Given the description of an element on the screen output the (x, y) to click on. 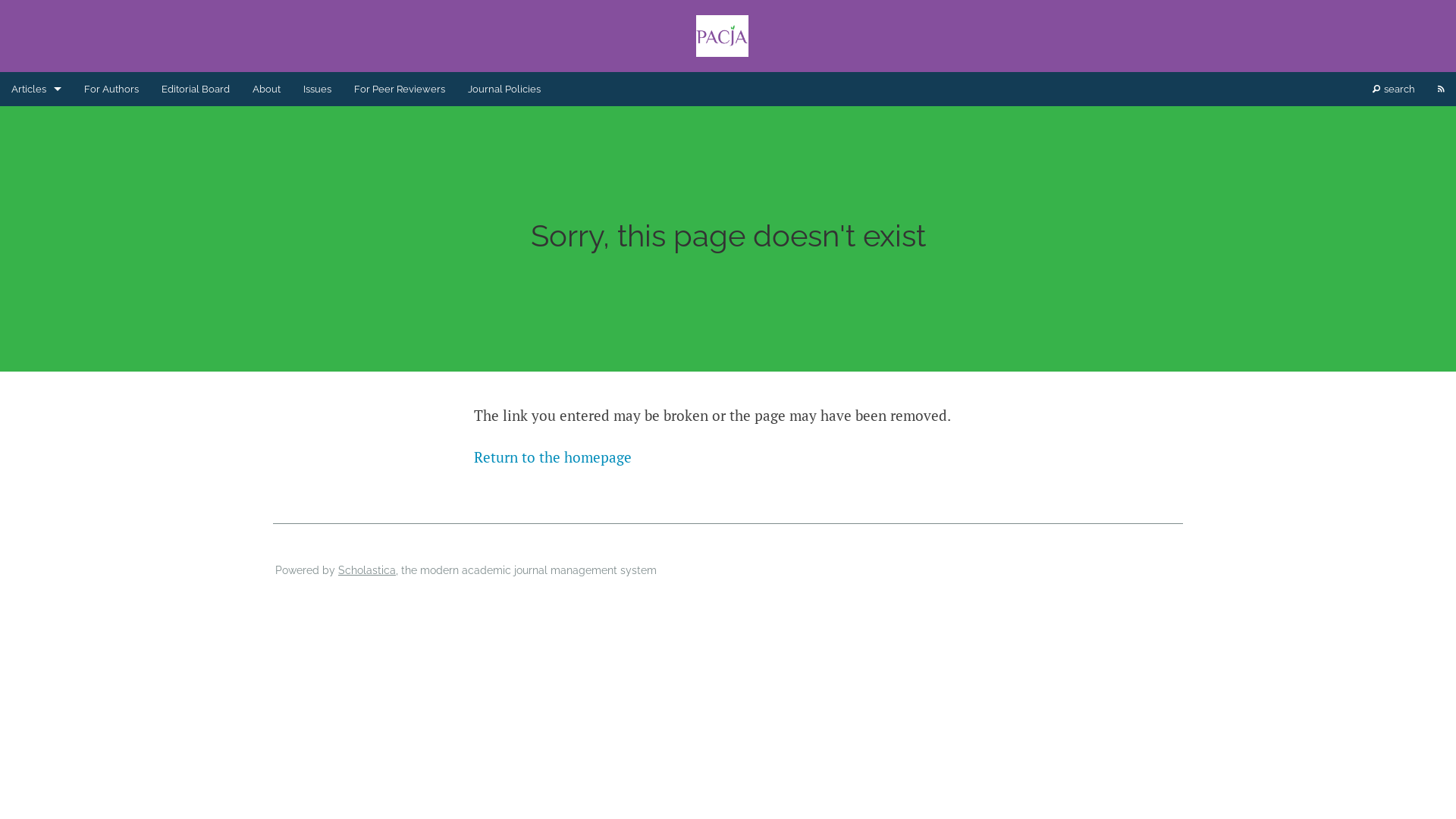
Editorial Board Element type: text (195, 89)
Return to the homepage Element type: text (552, 456)
All Element type: text (36, 362)
Non-refereed Element type: text (36, 259)
Reflection Points Element type: text (36, 293)
Viewpoints Element type: text (36, 327)
For Authors Element type: text (111, 89)
Literature Reviews Element type: text (36, 225)
Scholastica Element type: text (366, 569)
search Element type: text (1393, 89)
For Peer Reviewers Element type: text (399, 89)
Issues Element type: text (316, 89)
Book Reviews Element type: text (36, 157)
Journal Policies Element type: text (504, 89)
Articles Element type: text (36, 89)
About Element type: text (266, 89)
Articles Element type: text (36, 123)
Editorials Element type: text (36, 191)
